Given the description of an element on the screen output the (x, y) to click on. 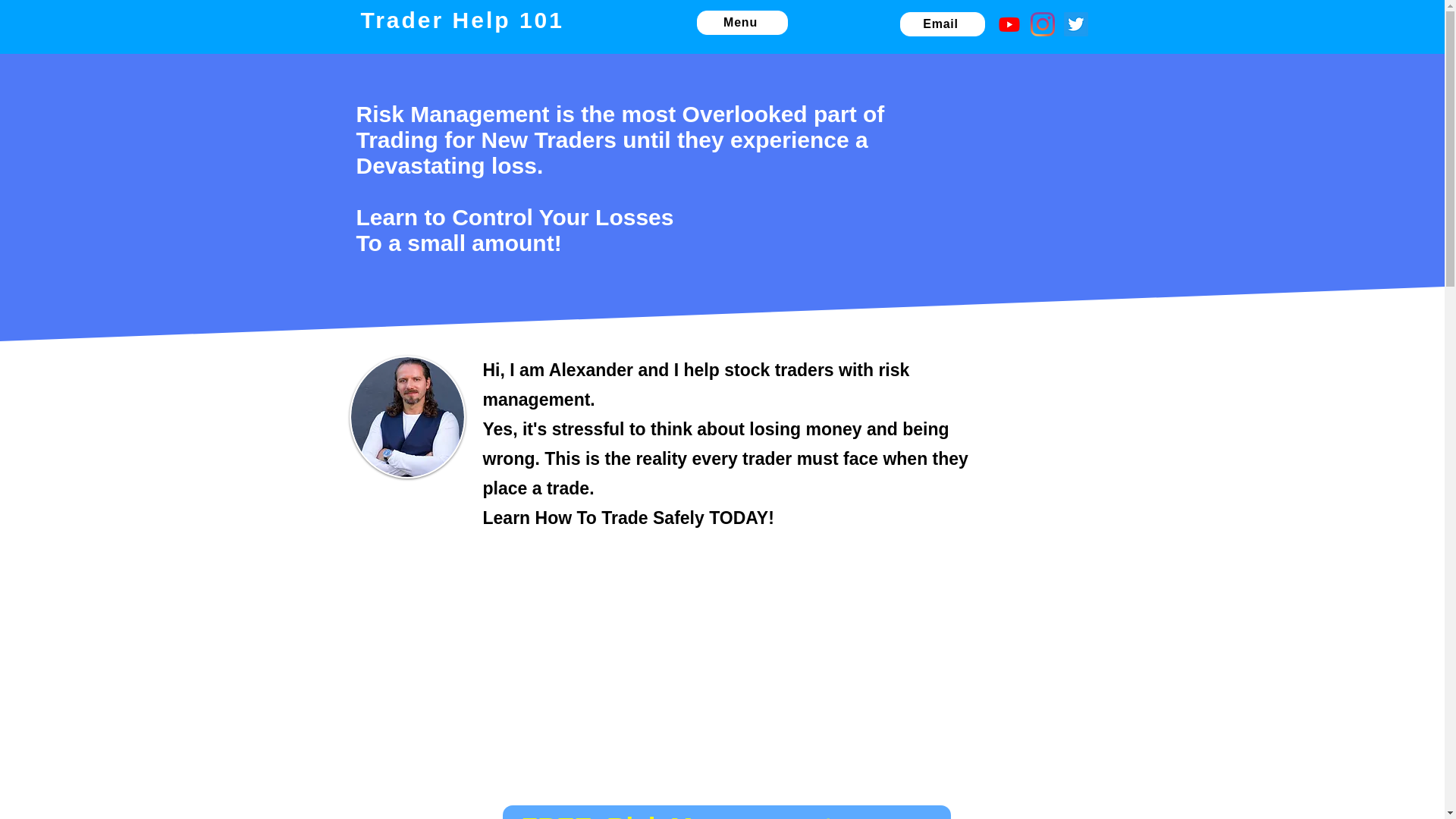
Trader Help 101 (462, 19)
Email (941, 24)
Menu (741, 22)
